Given the description of an element on the screen output the (x, y) to click on. 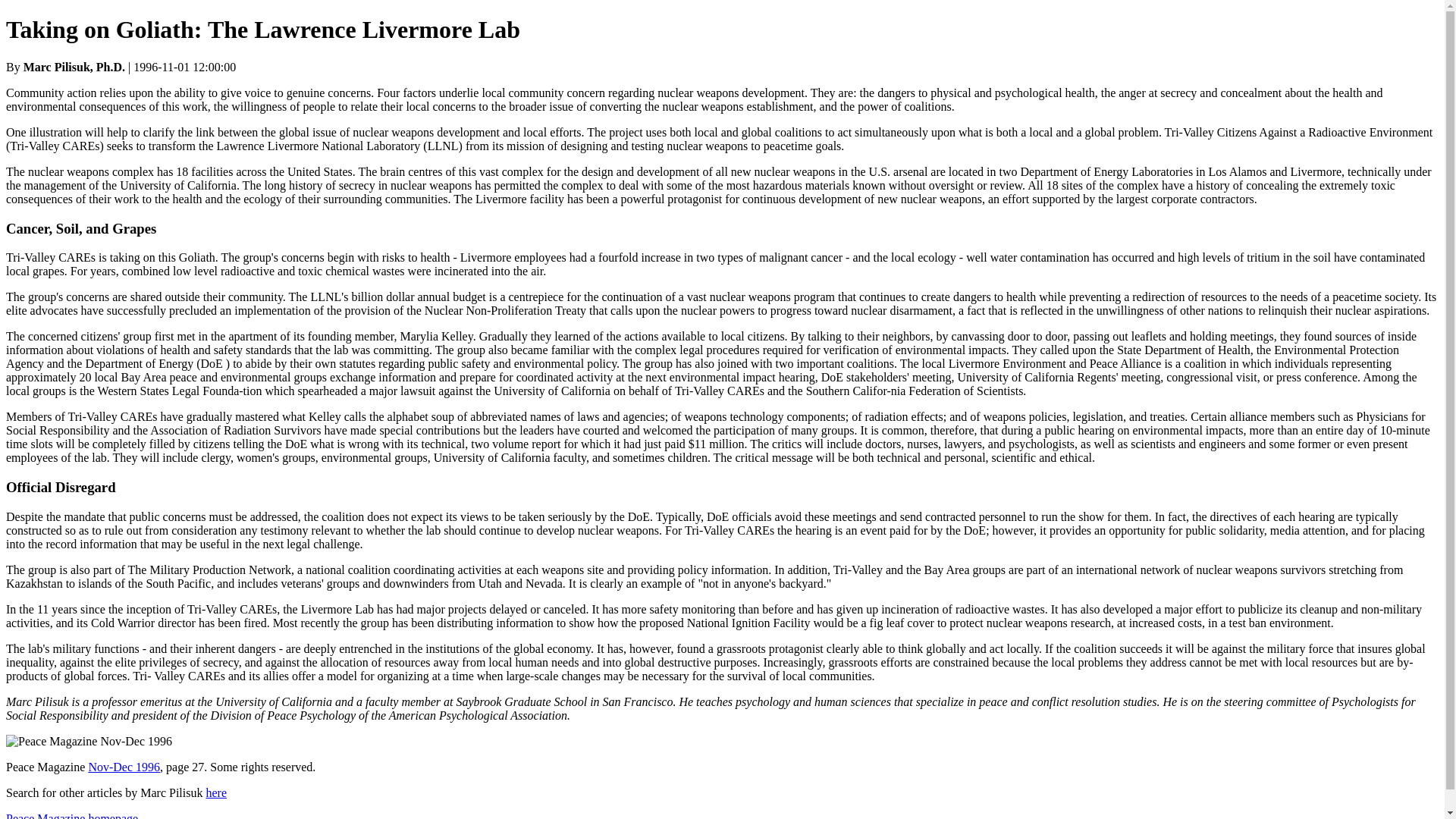
Nov-Dec 1996 (123, 766)
here (216, 792)
